Given the description of an element on the screen output the (x, y) to click on. 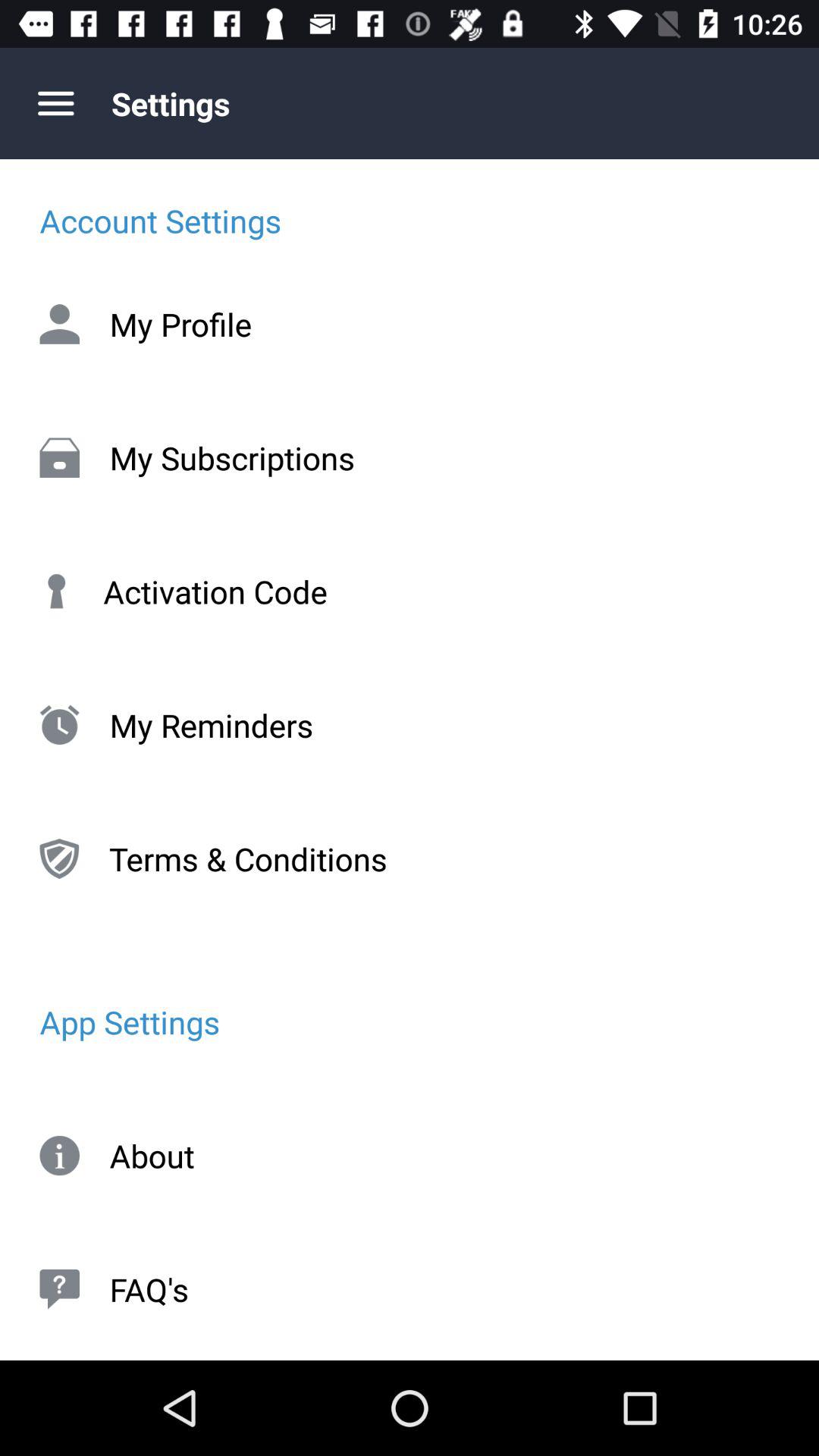
turn on my reminders icon (409, 724)
